Given the description of an element on the screen output the (x, y) to click on. 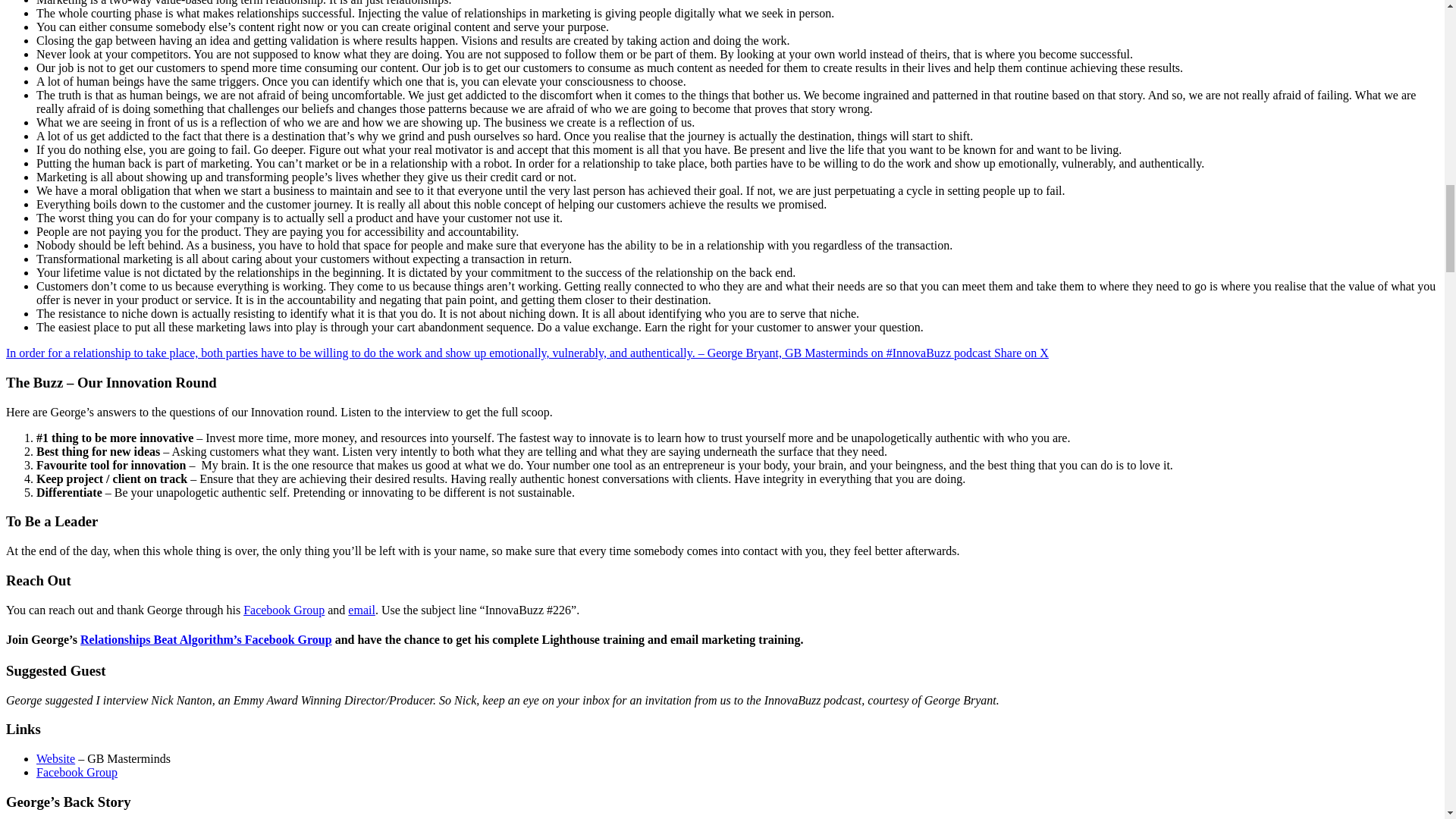
Share on X (1021, 352)
email (361, 609)
Facebook Group (76, 771)
Website (55, 758)
Facebook Group (283, 609)
